Given the description of an element on the screen output the (x, y) to click on. 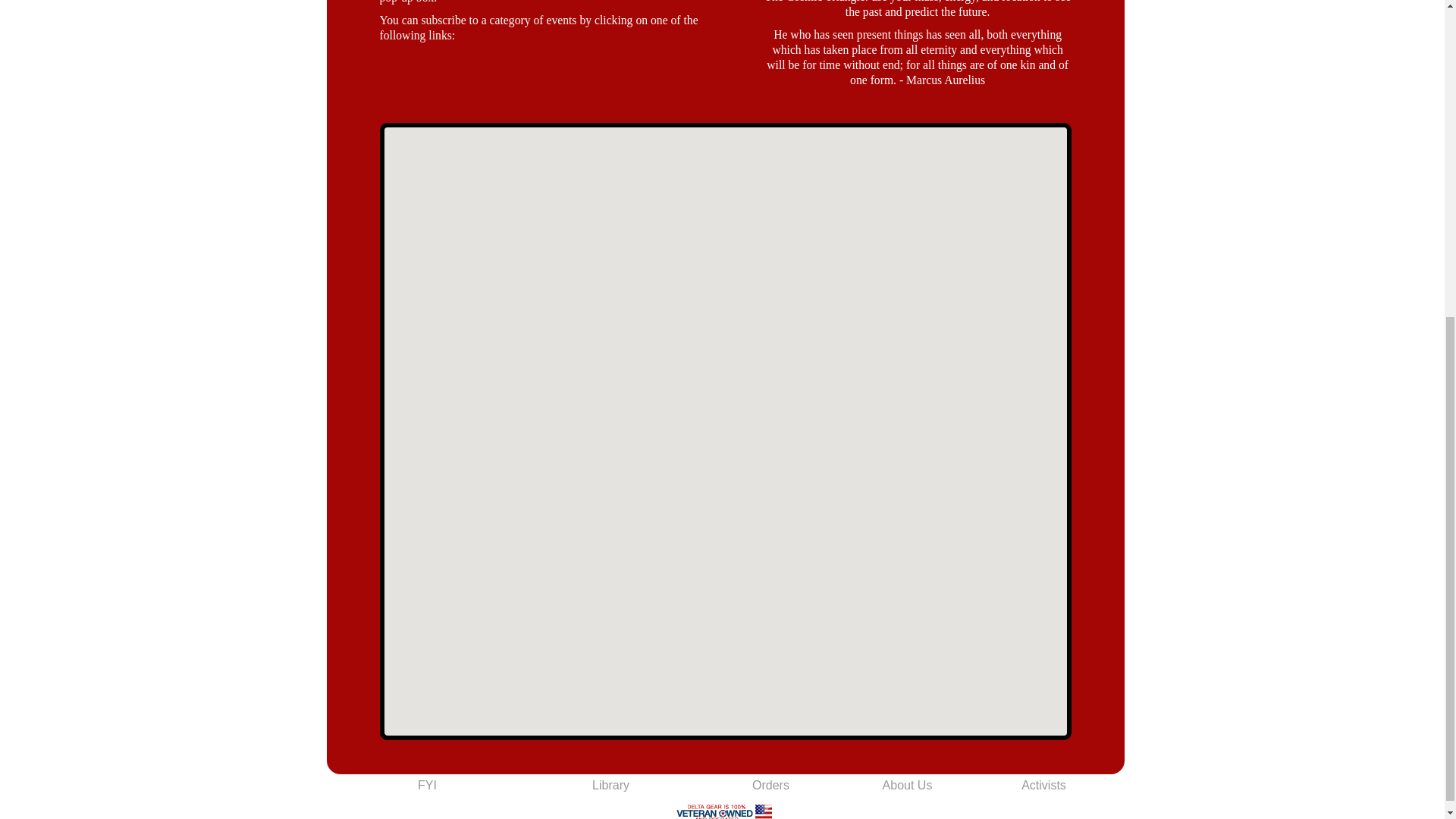
Add Marathons, Triathlons, and Bike Races to your Calendar (538, 73)
Add Skydiving Events to your Calendar (538, 58)
link (538, 103)
link (538, 88)
link (538, 73)
FYILibraryOrdersAbout UsActivists (723, 784)
link (538, 58)
Add MMA Matches to your Calendar (538, 103)
